Given the description of an element on the screen output the (x, y) to click on. 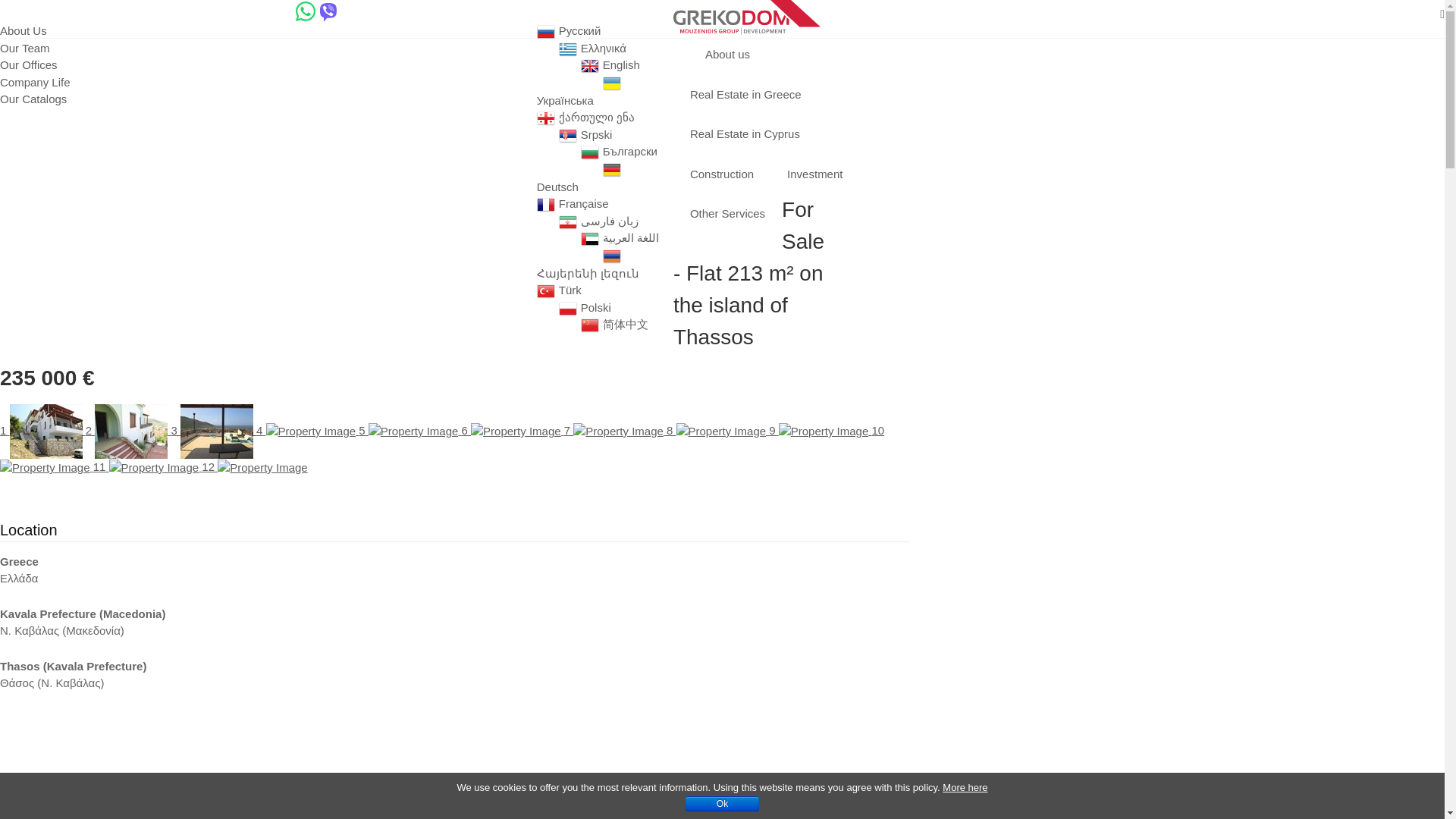
Our Team (24, 47)
About us (34, 11)
Our Offices (29, 64)
Polski (601, 306)
About Us (23, 30)
English (627, 64)
Our Catalogs (33, 98)
Request a property (126, 11)
Deutsch (564, 186)
Callback (373, 11)
